Given the description of an element on the screen output the (x, y) to click on. 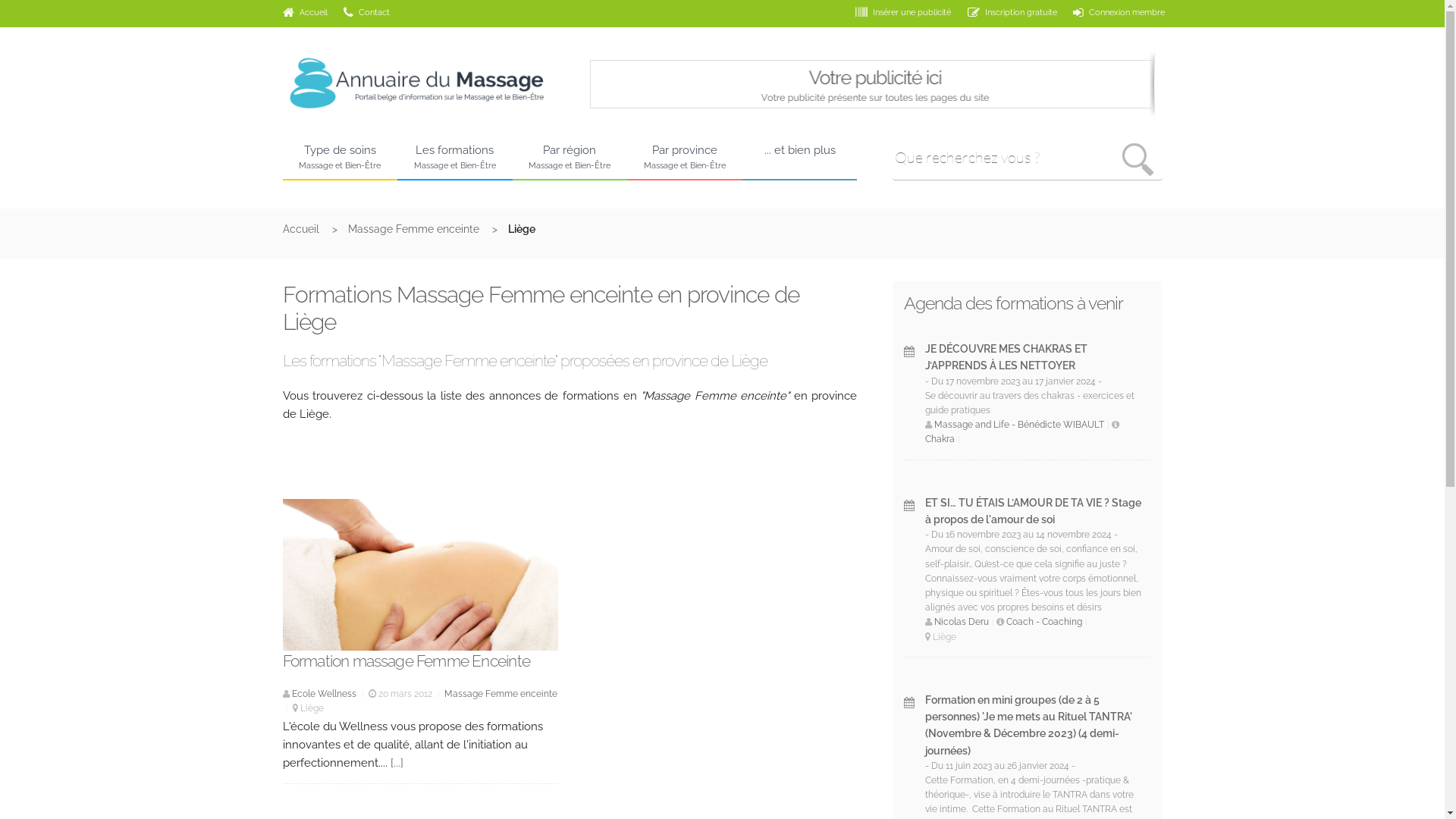
Coach - Coaching Element type: text (1044, 621)
Formation massage Femme Enceinte Element type: text (405, 660)
Chakra Element type: text (939, 438)
Massage Femme enceinte Element type: text (427, 228)
Massage Femme enceinte Element type: text (500, 693)
... et bien plus Element type: text (799, 159)
[...] Element type: text (395, 762)
Accueil Element type: text (304, 11)
Ecole Wellness Element type: text (323, 693)
Inscription gratuite Element type: text (1003, 11)
Nicolas Deru Element type: text (961, 621)
Rechercher Element type: text (1138, 159)
Connexion membre Element type: text (1110, 11)
Accueil Element type: text (314, 228)
Contact Element type: text (357, 11)
